Given the description of an element on the screen output the (x, y) to click on. 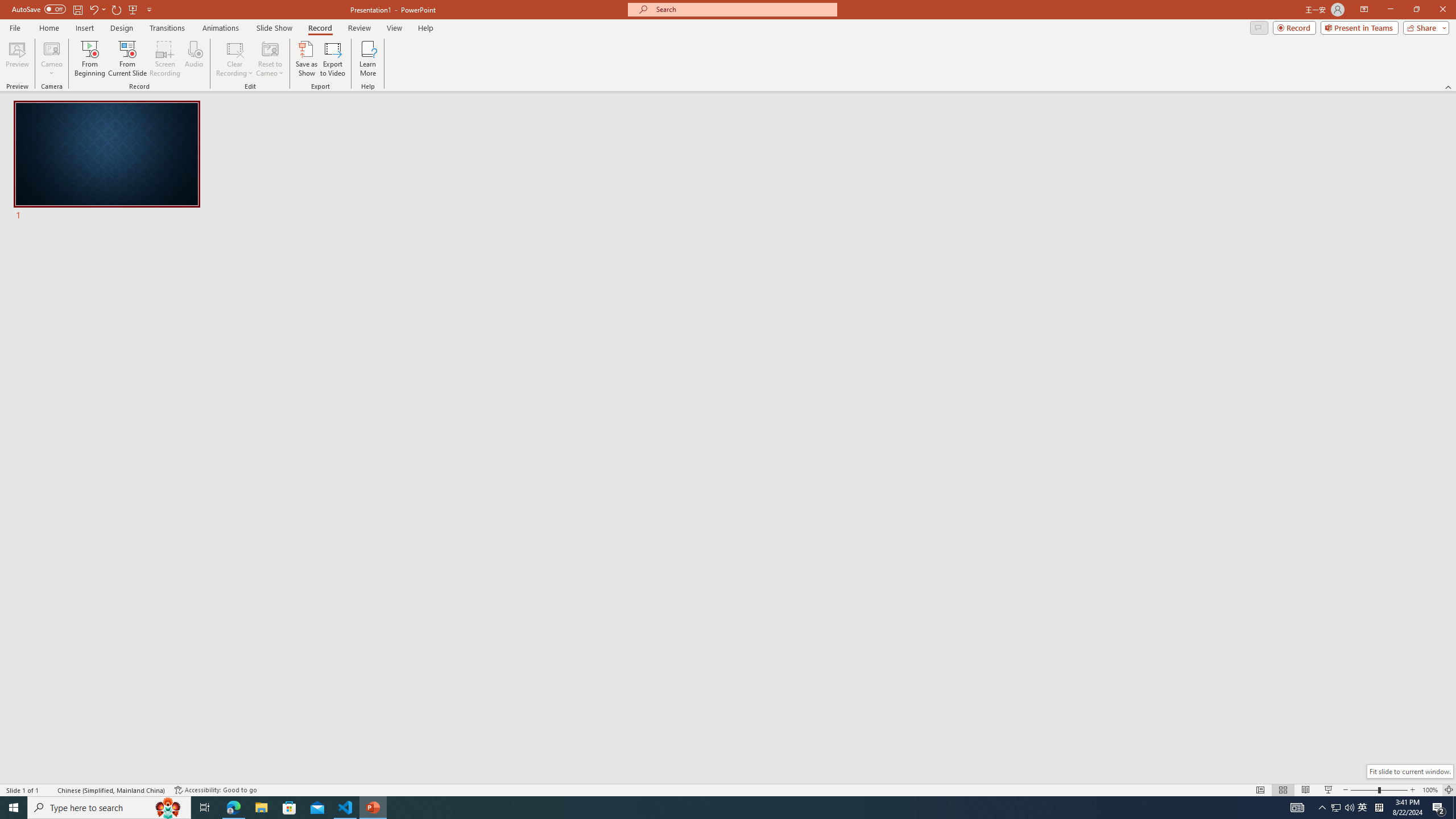
Fit slide to current window. (1410, 771)
